Given the description of an element on the screen output the (x, y) to click on. 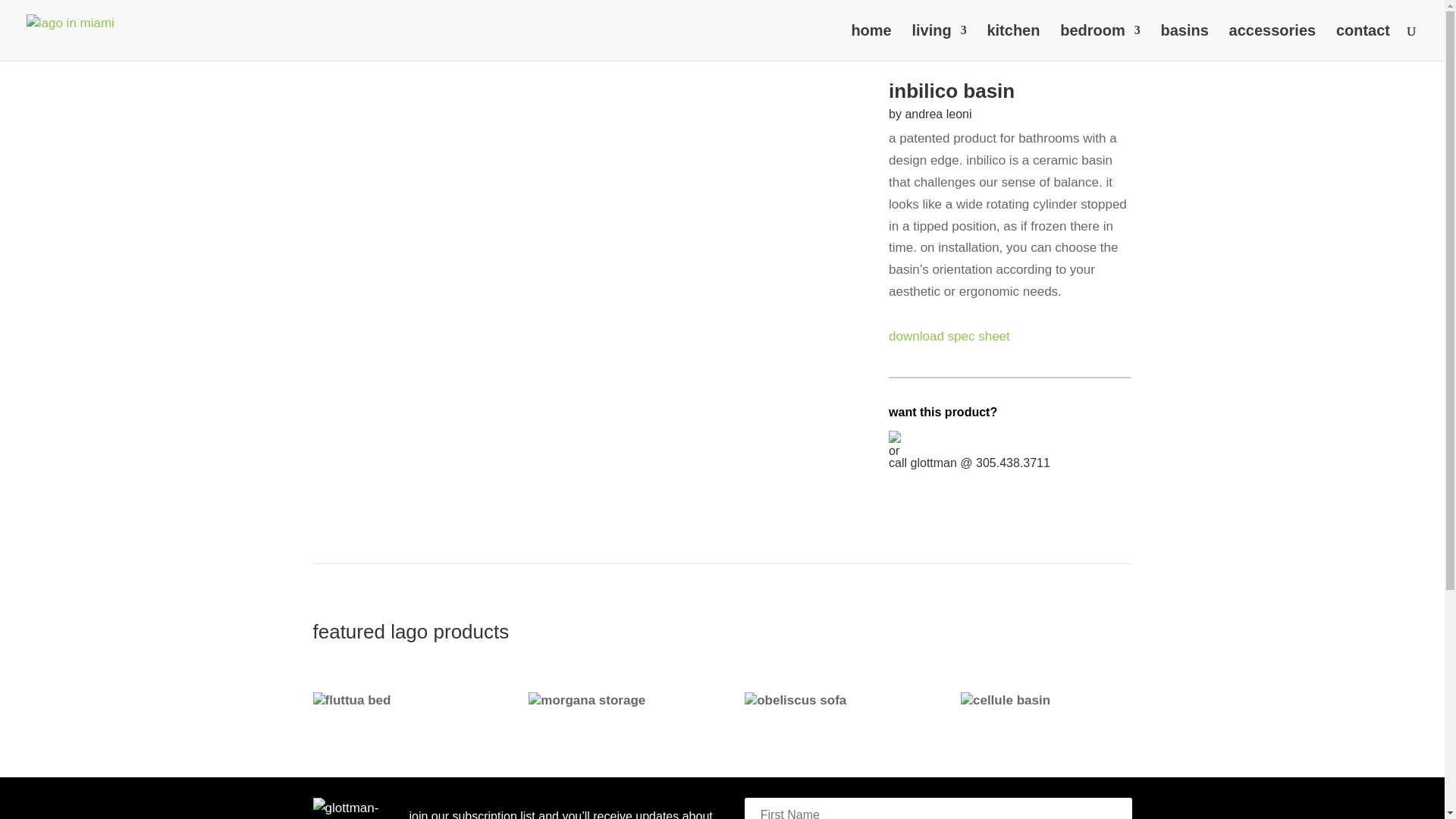
basins (1184, 42)
kitchen (1013, 42)
contact (1363, 42)
bedroom (1099, 42)
download spec sheet (949, 336)
accessories (1272, 42)
living (938, 42)
home (870, 42)
